Given the description of an element on the screen output the (x, y) to click on. 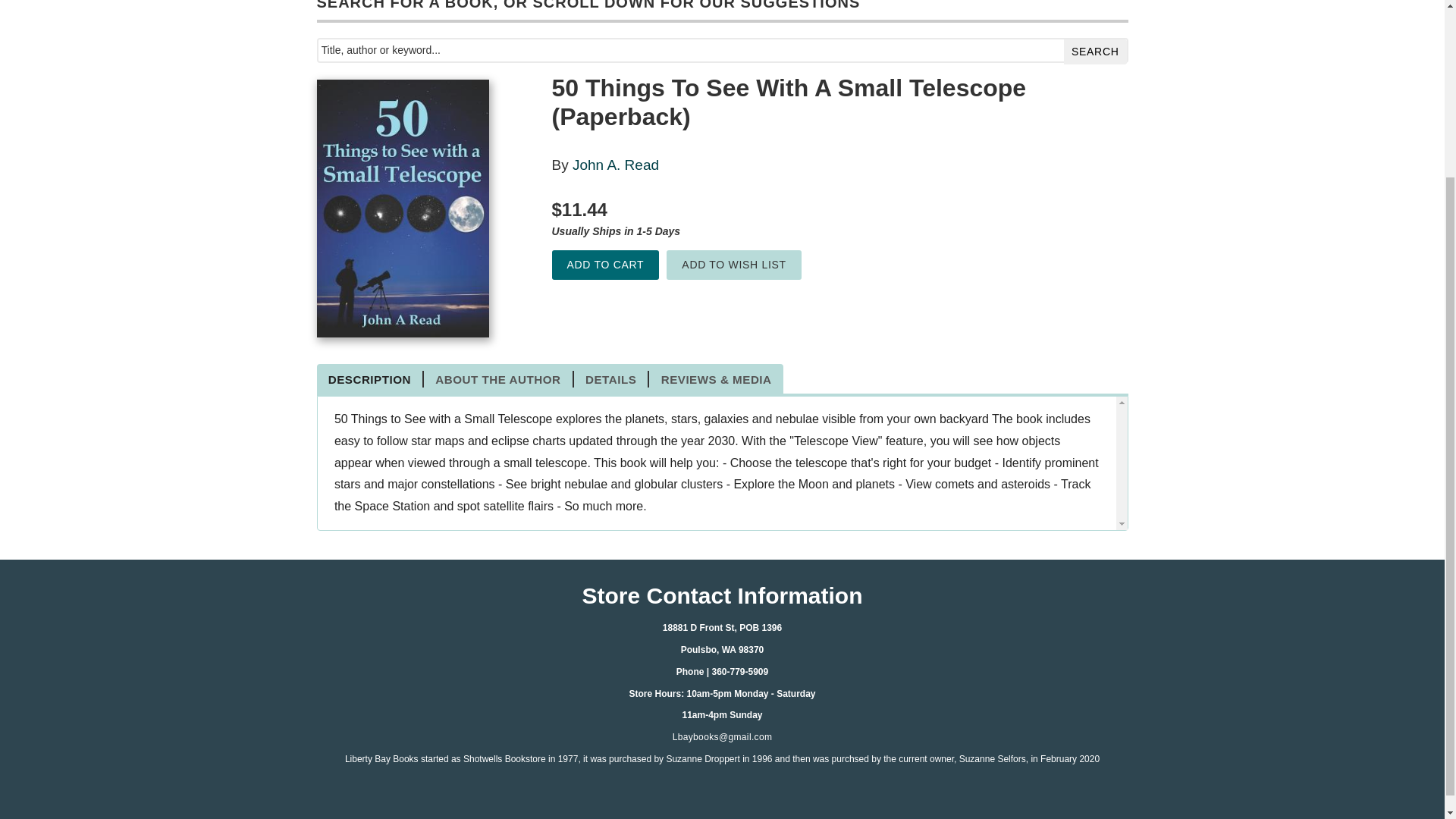
search (1095, 51)
DESCRIPTION (371, 379)
DETAILS (611, 379)
Title, author or keyword... (722, 50)
Add to Cart (605, 265)
ADD TO WISH LIST (733, 265)
Add to Cart (605, 265)
search (1095, 51)
John A. Read (615, 164)
ABOUT THE AUTHOR (498, 379)
